Given the description of an element on the screen output the (x, y) to click on. 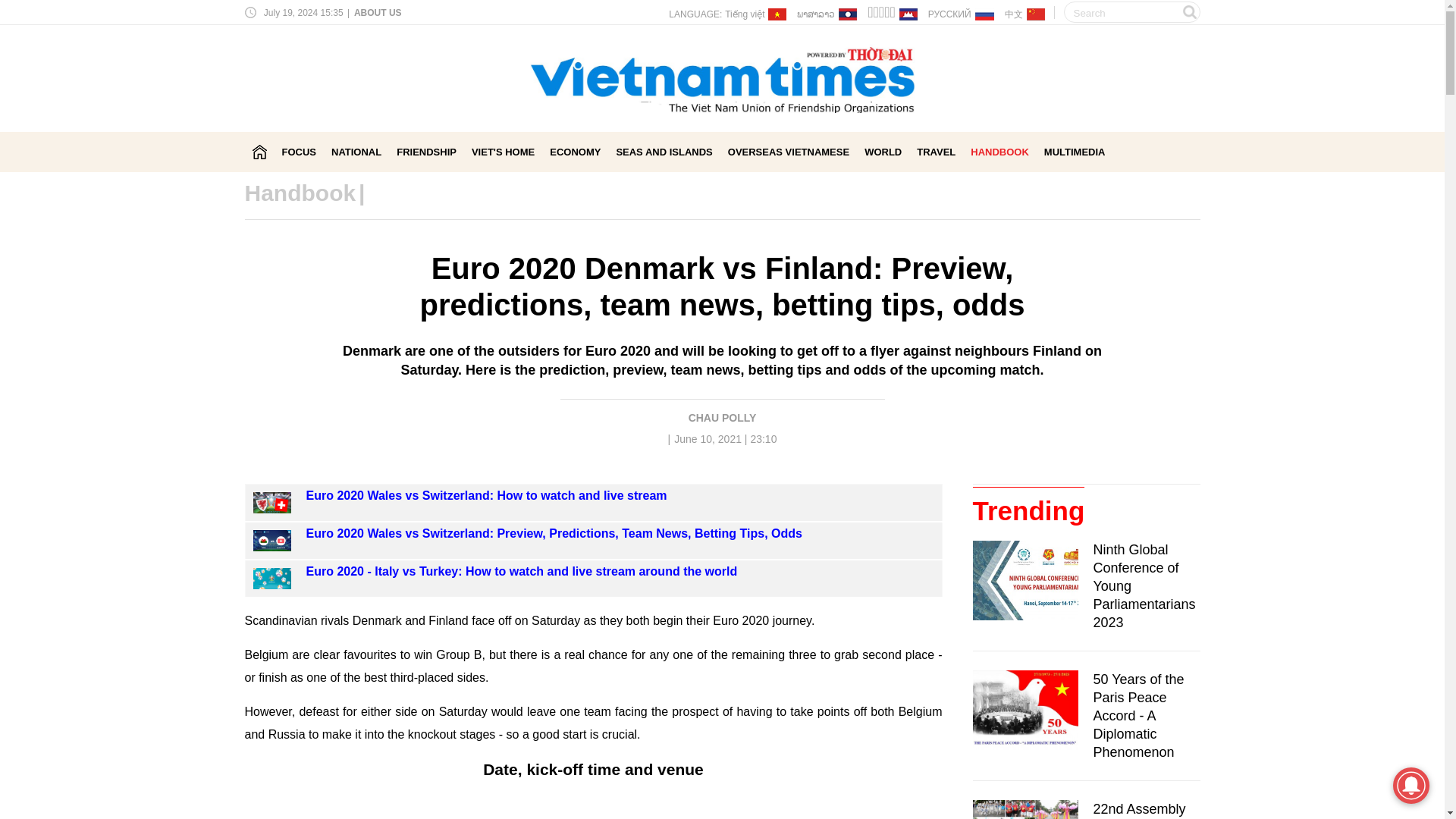
Photo: The Telegraph  (593, 806)
Euro 2020 Wales vs Switzerland: How to watch and live stream (485, 495)
WORLD (882, 152)
FOCUS (299, 152)
NATIONAL (356, 152)
TRAVEL (936, 152)
Euro 2020 Wales vs Switzerland: How to watch and live stream (485, 495)
CHAU POLLY (722, 417)
Vietnam Times (258, 151)
HANDBOOK (1000, 152)
VIET'S HOME (502, 152)
Handbook (299, 192)
ECONOMY (574, 152)
